Given the description of an element on the screen output the (x, y) to click on. 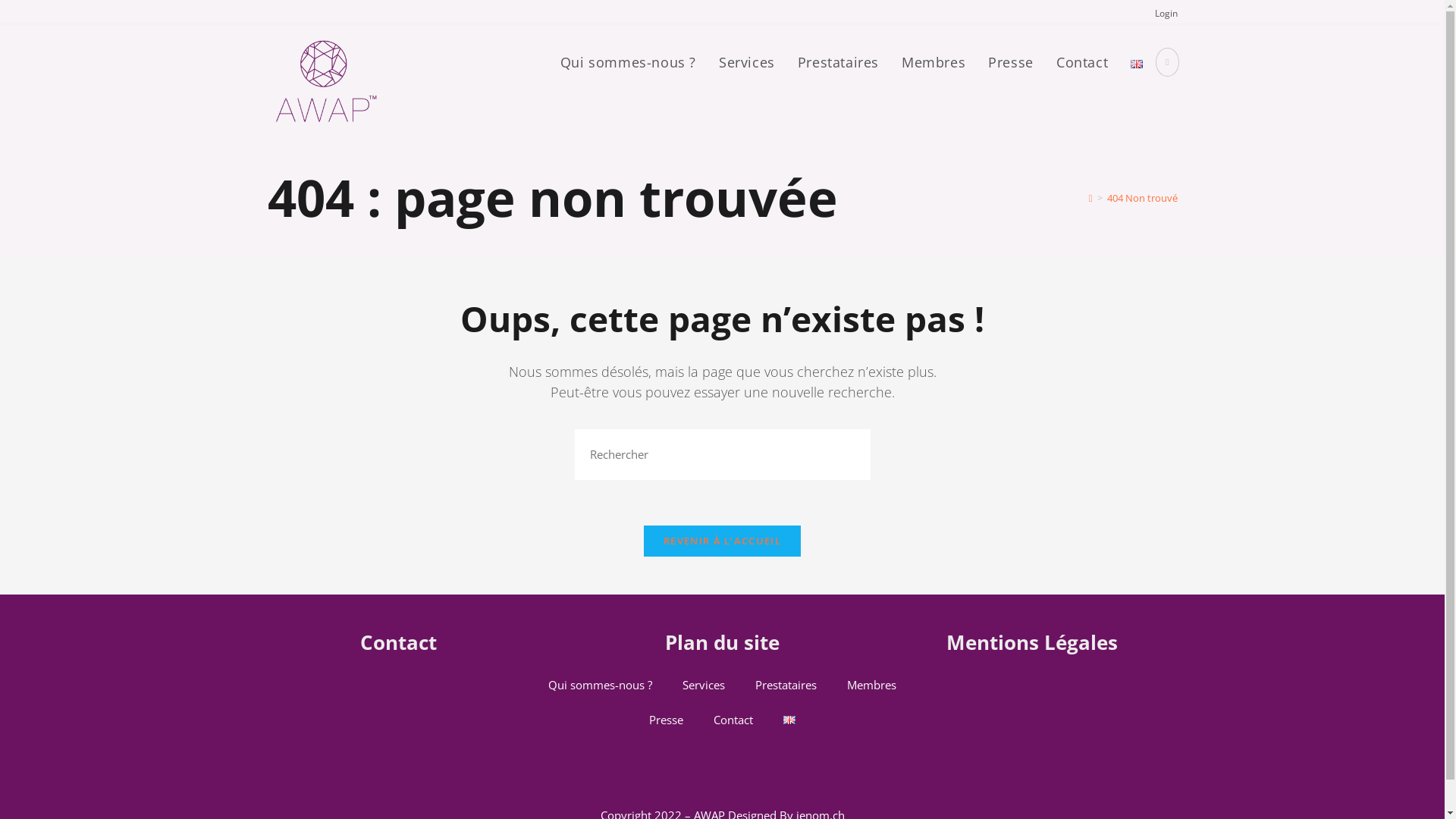
Prestataires Element type: text (838, 62)
Contact Element type: text (733, 719)
Membres Element type: text (933, 62)
Login Element type: text (1165, 12)
Contact Element type: text (397, 641)
Services Element type: text (746, 62)
Prestataires Element type: text (785, 684)
Services Element type: text (703, 684)
Presse Element type: text (665, 719)
Contact Element type: text (1081, 62)
Qui sommes-nous ? Element type: text (628, 62)
Presse Element type: text (1010, 62)
Membres Element type: text (871, 684)
Qui sommes-nous ? Element type: text (600, 684)
